Given the description of an element on the screen output the (x, y) to click on. 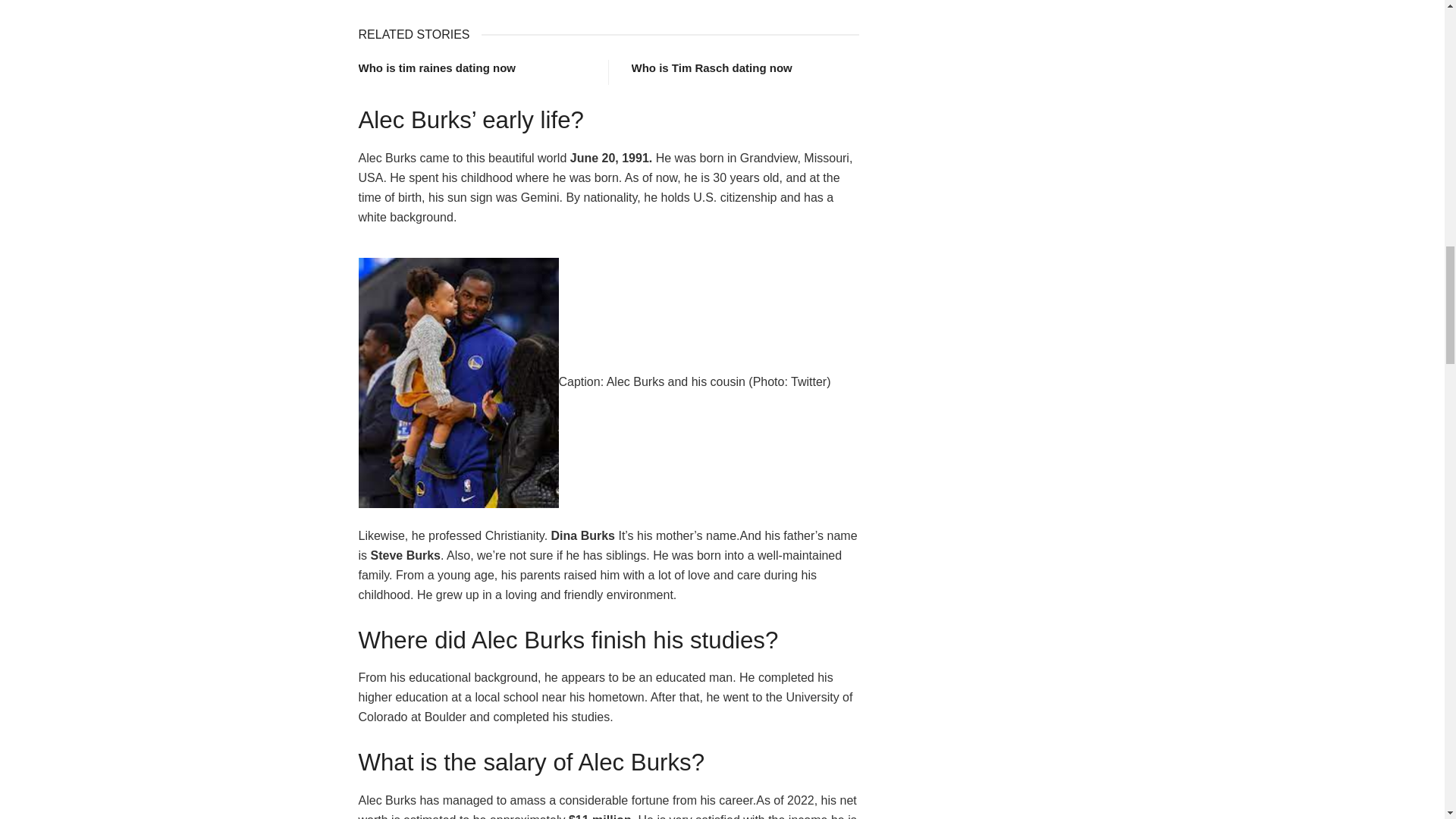
Who is Tim Rasch dating now (711, 67)
Who is tim raines dating now (436, 67)
